Given the description of an element on the screen output the (x, y) to click on. 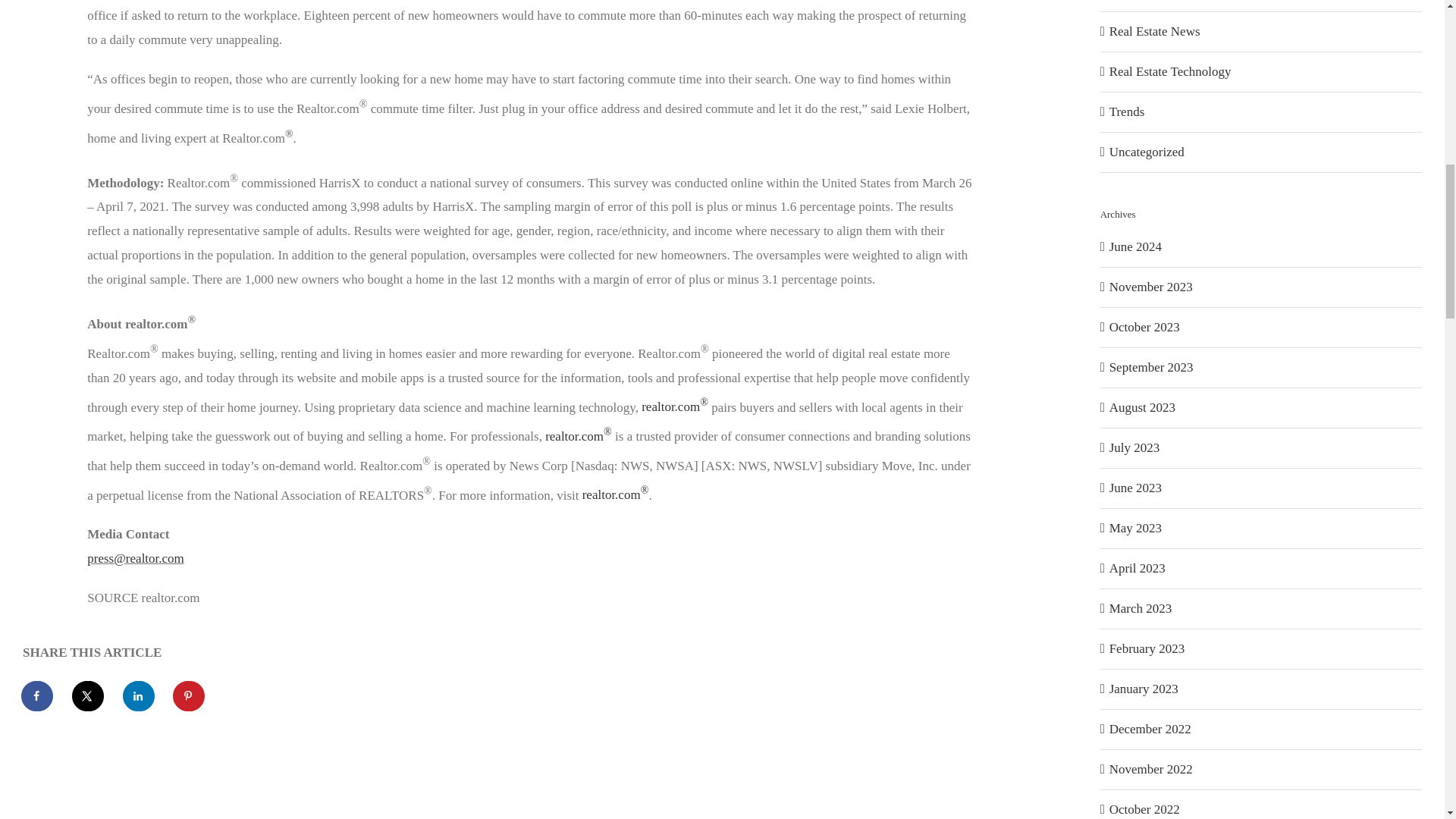
Save to Pinterest (189, 695)
Share on LinkedIn (138, 695)
Share on X (88, 695)
Share on Facebook (37, 695)
